Given the description of an element on the screen output the (x, y) to click on. 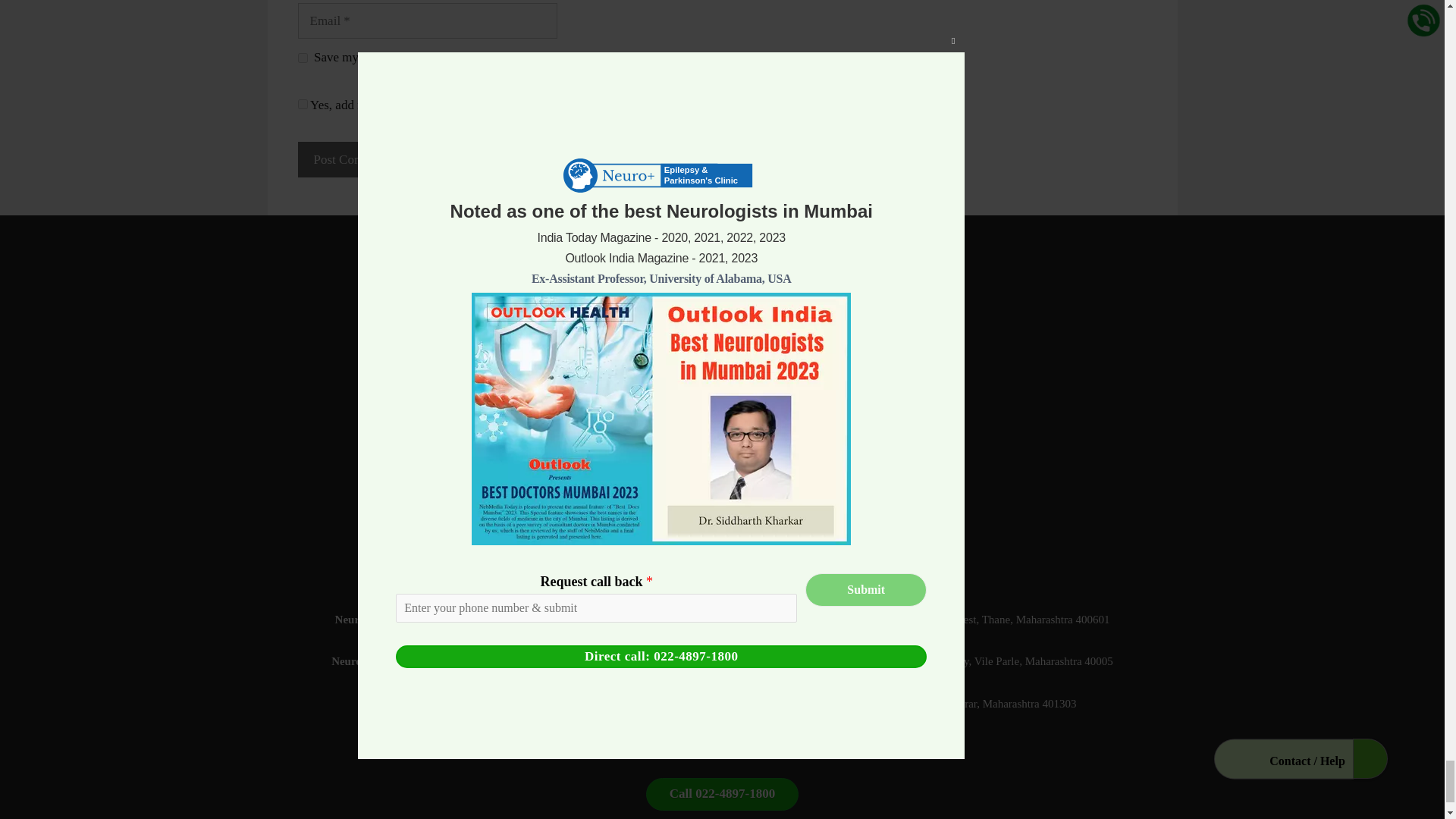
yes (302, 58)
Post Comment (351, 159)
1 (302, 103)
